Given the description of an element on the screen output the (x, y) to click on. 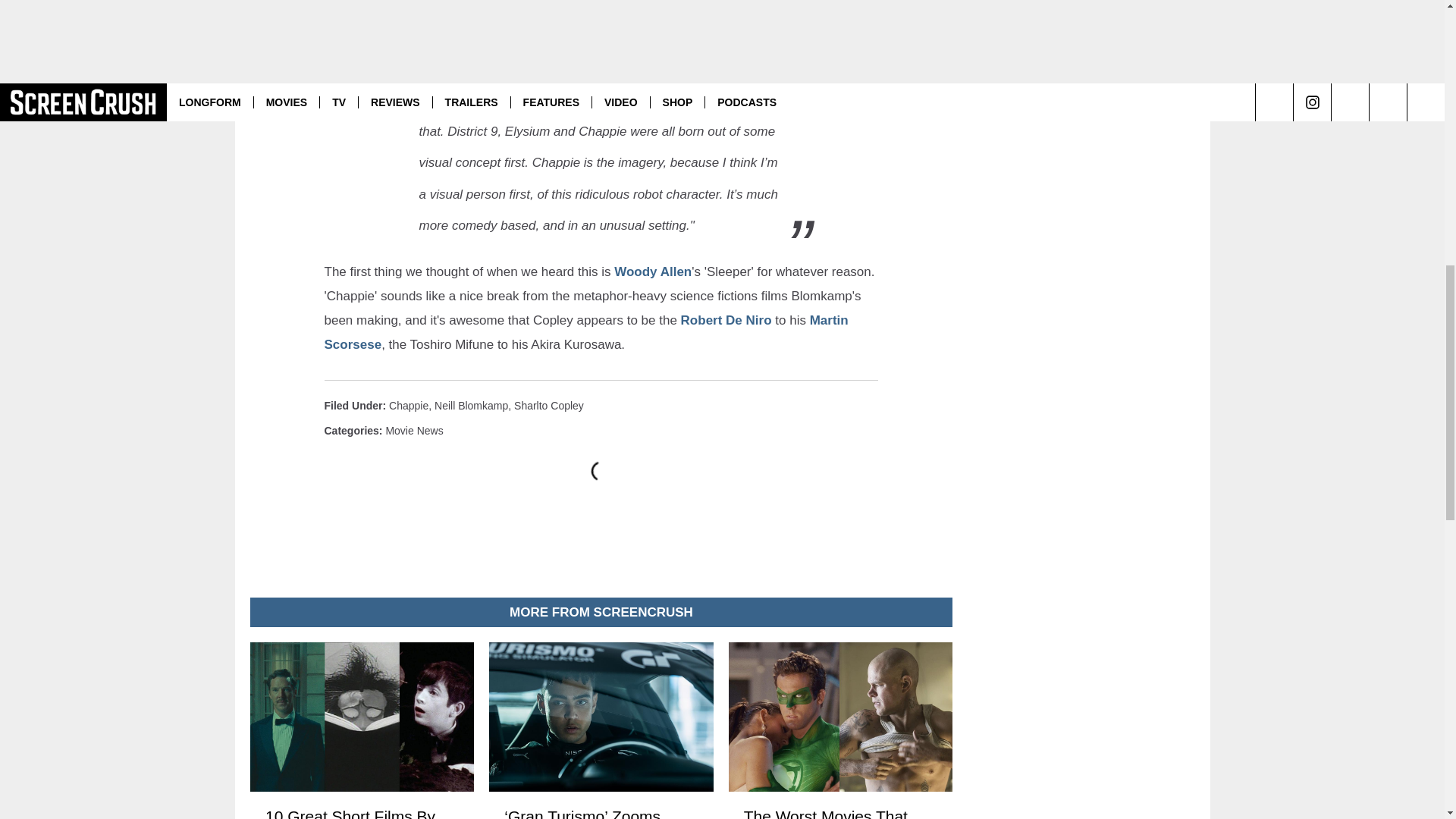
10 Great Short Films By Famous Directors (361, 812)
The Worst Movies That Became Hits on Netflix (839, 812)
Chappie (408, 405)
Sharlto Copley (548, 405)
Movie News (413, 430)
Woody Allen (652, 271)
Empire (690, 16)
Robert De Niro (726, 319)
Neill Blomkamp (470, 405)
Martin Scorsese (586, 332)
